Given the description of an element on the screen output the (x, y) to click on. 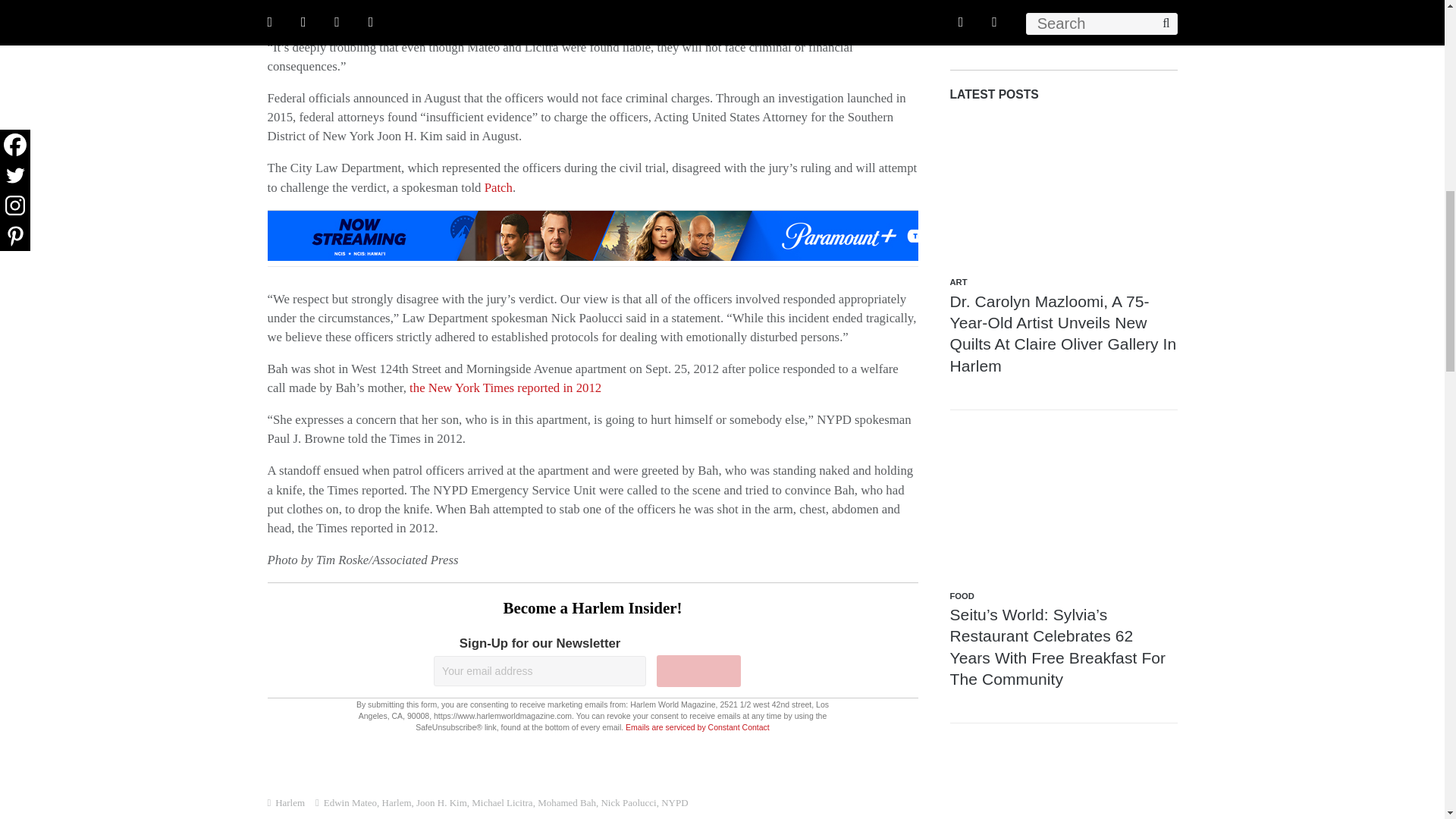
Joon H. Kim (441, 802)
Patch (498, 187)
Emails are serviced by Constant Contact (698, 727)
Edwin Mateo (350, 802)
Harlem (289, 802)
Mohamed (576, 2)
Sign up (698, 671)
the New York Times reported in 2012 (505, 387)
Sign up (698, 671)
